Given the description of an element on the screen output the (x, y) to click on. 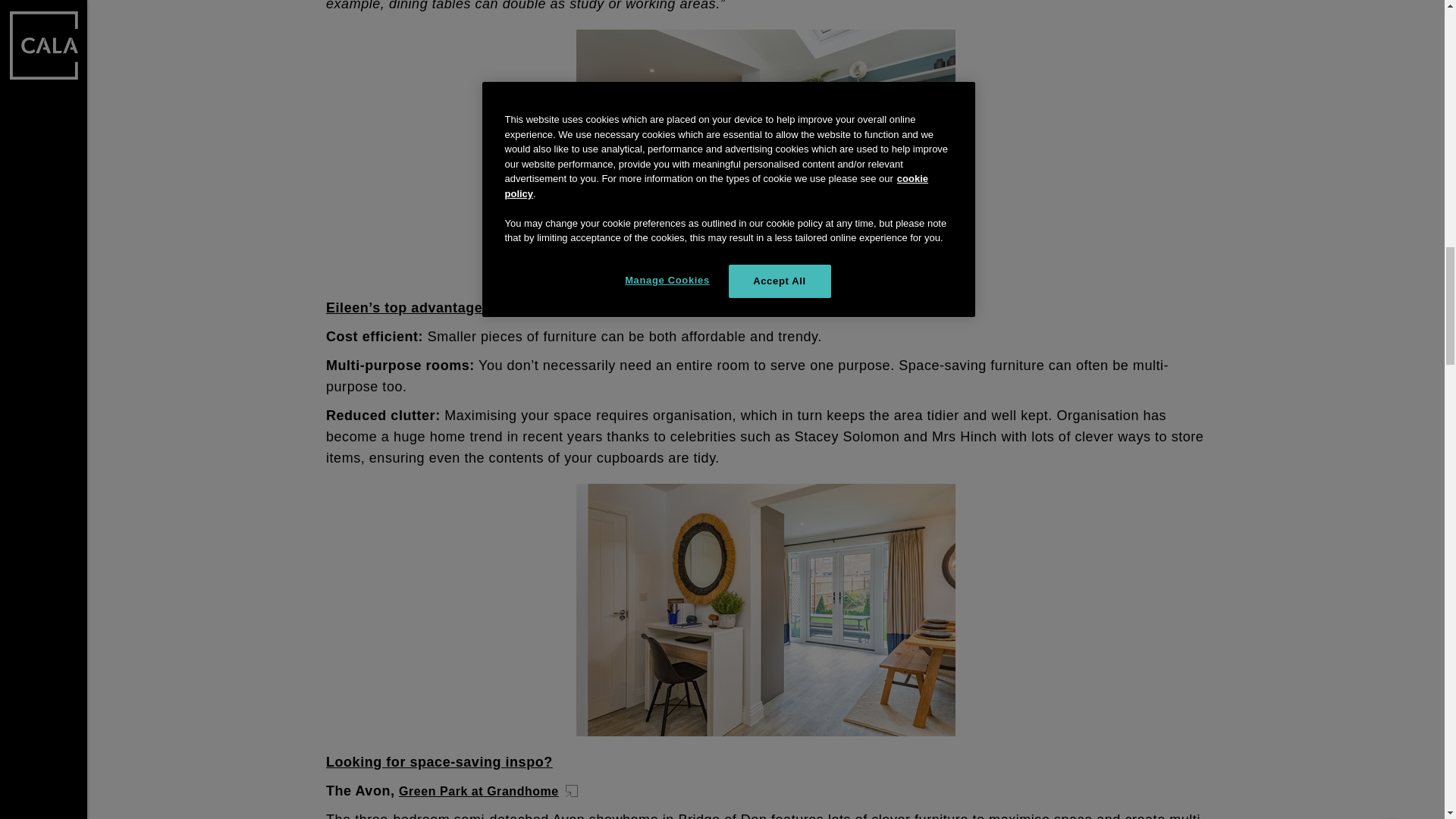
Green Park at Grandhome (489, 790)
